Given the description of an element on the screen output the (x, y) to click on. 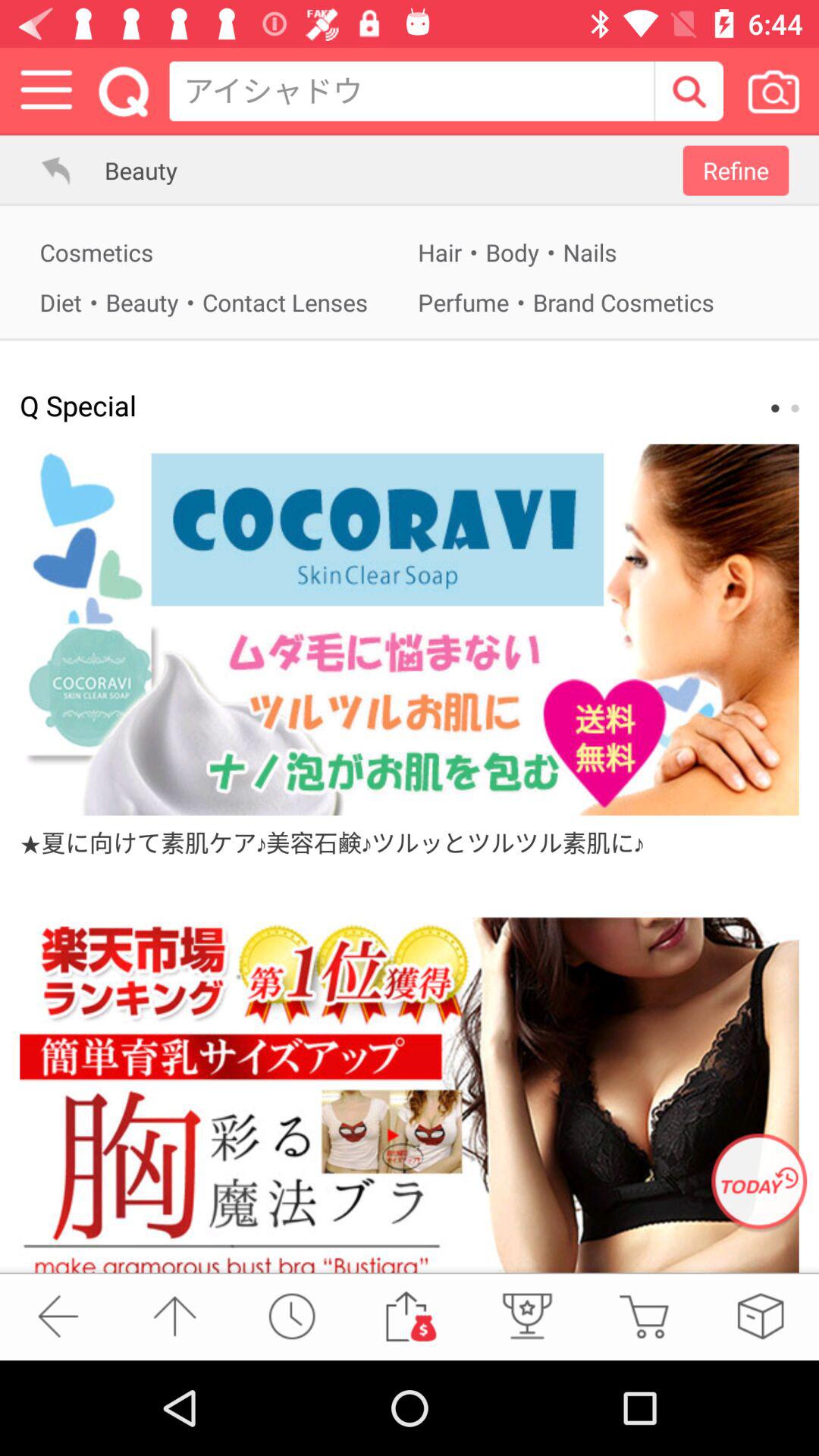
go to the second option from the bottom which is in  above back arrow (175, 1316)
click on clock icon (291, 1316)
text below the text body (597, 301)
click on cart icon (642, 1316)
click on logo beside menu bar (123, 90)
click on the menu button at top left (46, 90)
click refine button below search box (735, 170)
